Given the description of an element on the screen output the (x, y) to click on. 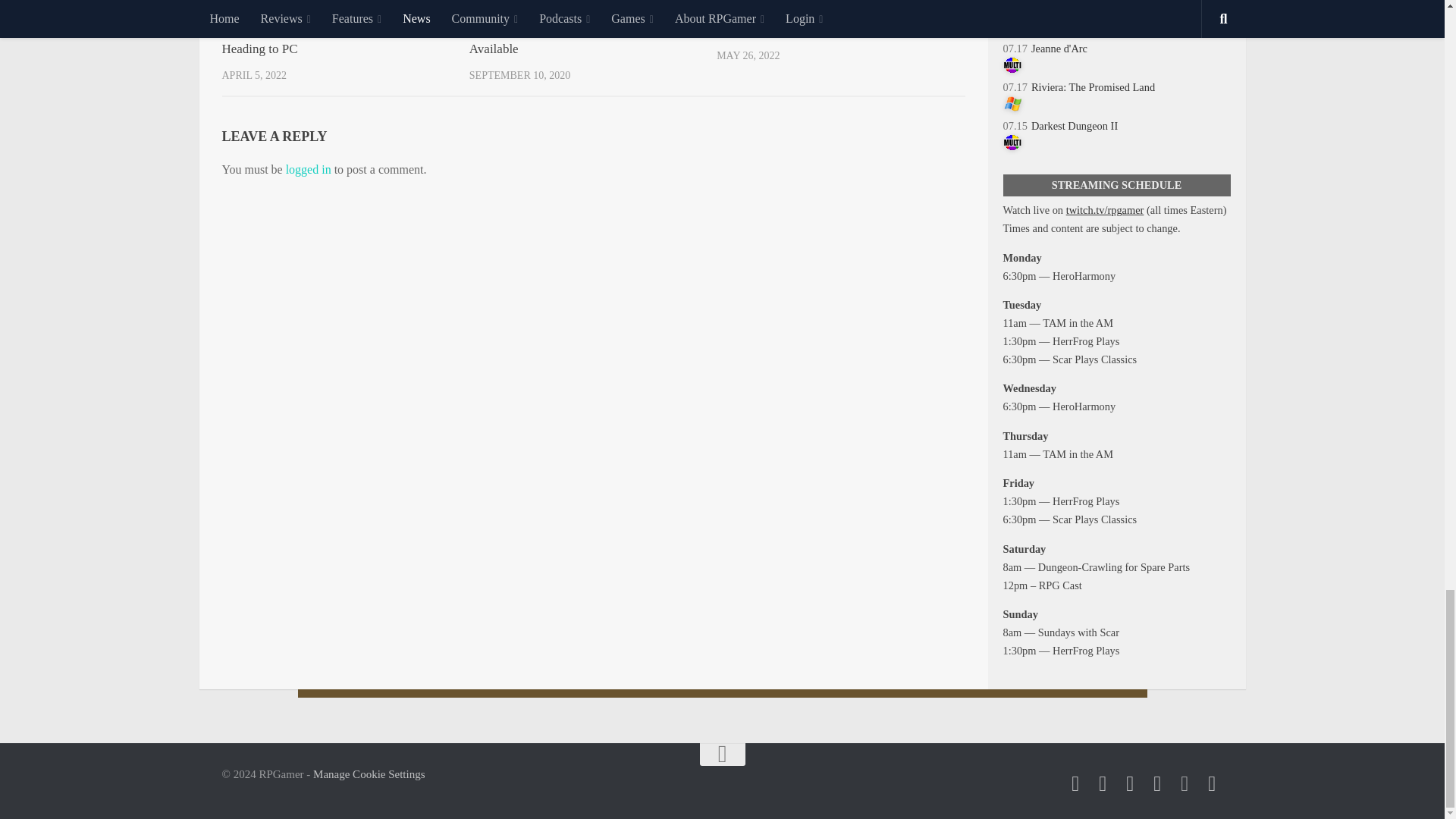
Follow us on Twitter (1075, 783)
Follow us on Facebook (1102, 783)
